Given the description of an element on the screen output the (x, y) to click on. 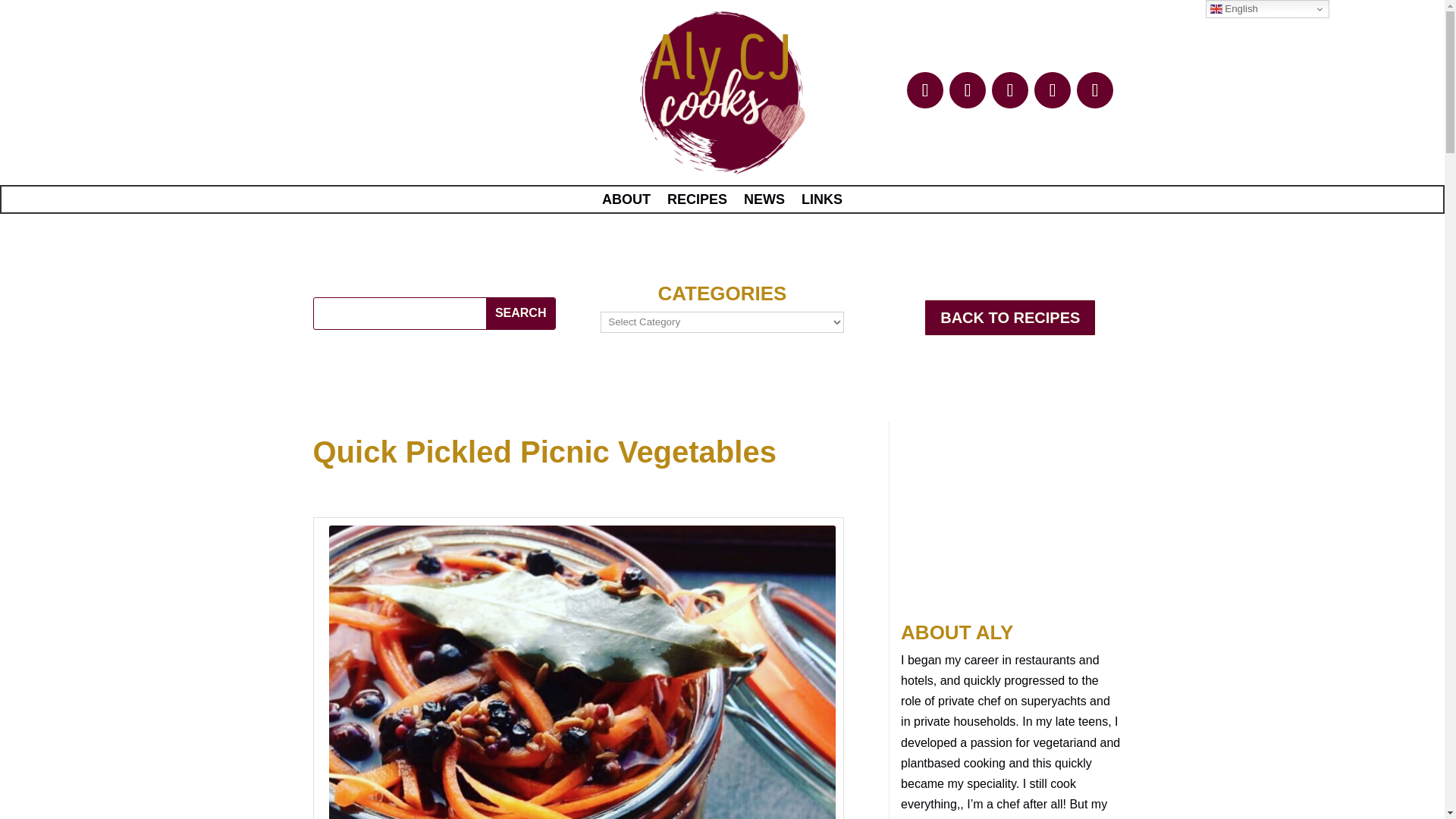
Search (520, 313)
Follow on Youtube (1051, 90)
NEWS (764, 202)
Follow on X (1095, 90)
LINKS (822, 202)
Aly CJ Cooks Logo (721, 94)
Follow on LinkedIn (967, 90)
BACK TO RECIPES (1009, 317)
Follow on Facebook (925, 90)
ABOUT (626, 202)
